Given the description of an element on the screen output the (x, y) to click on. 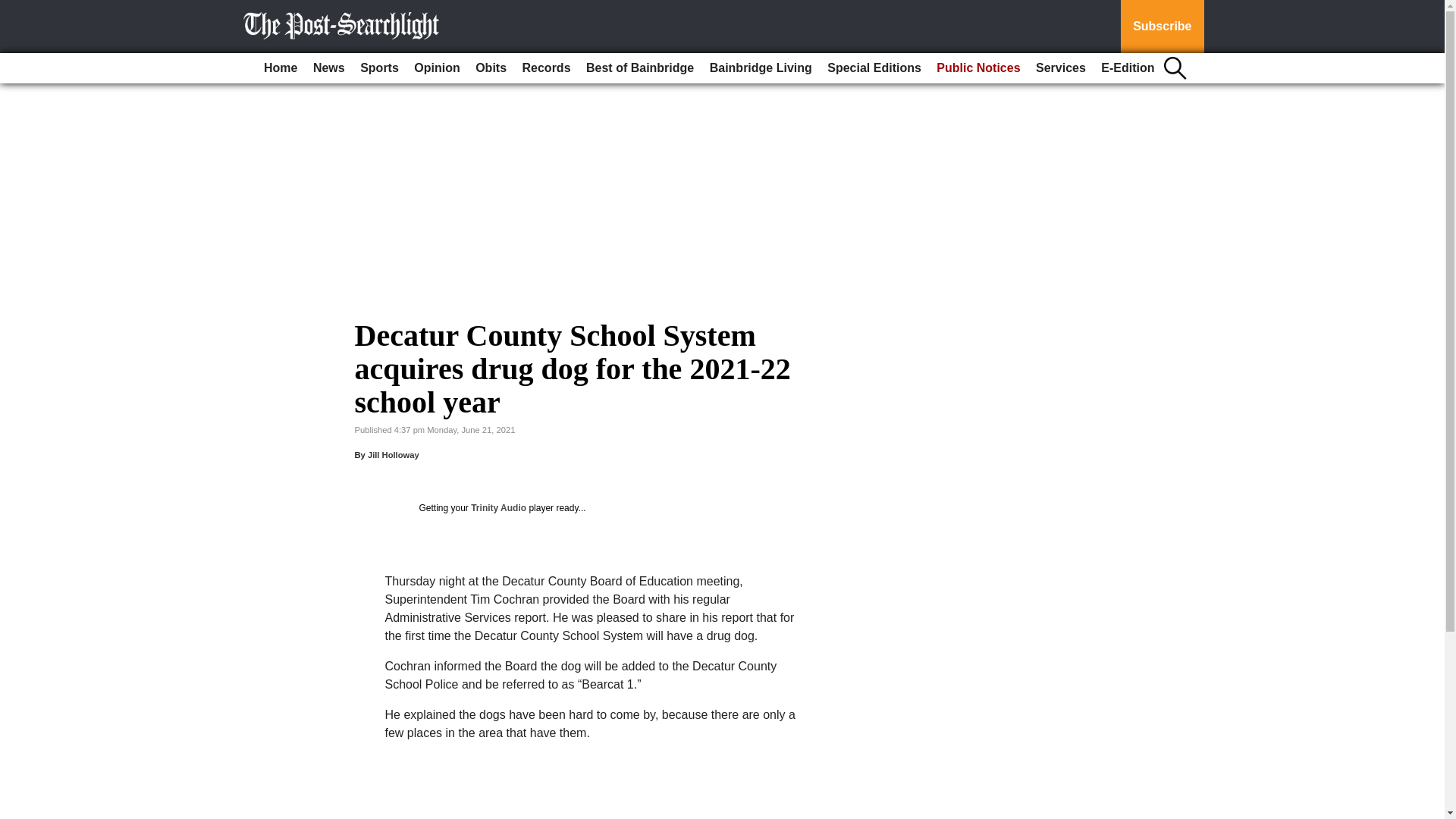
Jill Holloway (393, 454)
Home (279, 68)
Trinity Audio (497, 507)
Go (13, 9)
Sports (378, 68)
News (328, 68)
Bainbridge Living (760, 68)
Subscribe (1162, 26)
Services (1060, 68)
Opinion (436, 68)
Records (546, 68)
Special Editions (874, 68)
Obits (490, 68)
Public Notices (978, 68)
E-Edition (1127, 68)
